Given the description of an element on the screen output the (x, y) to click on. 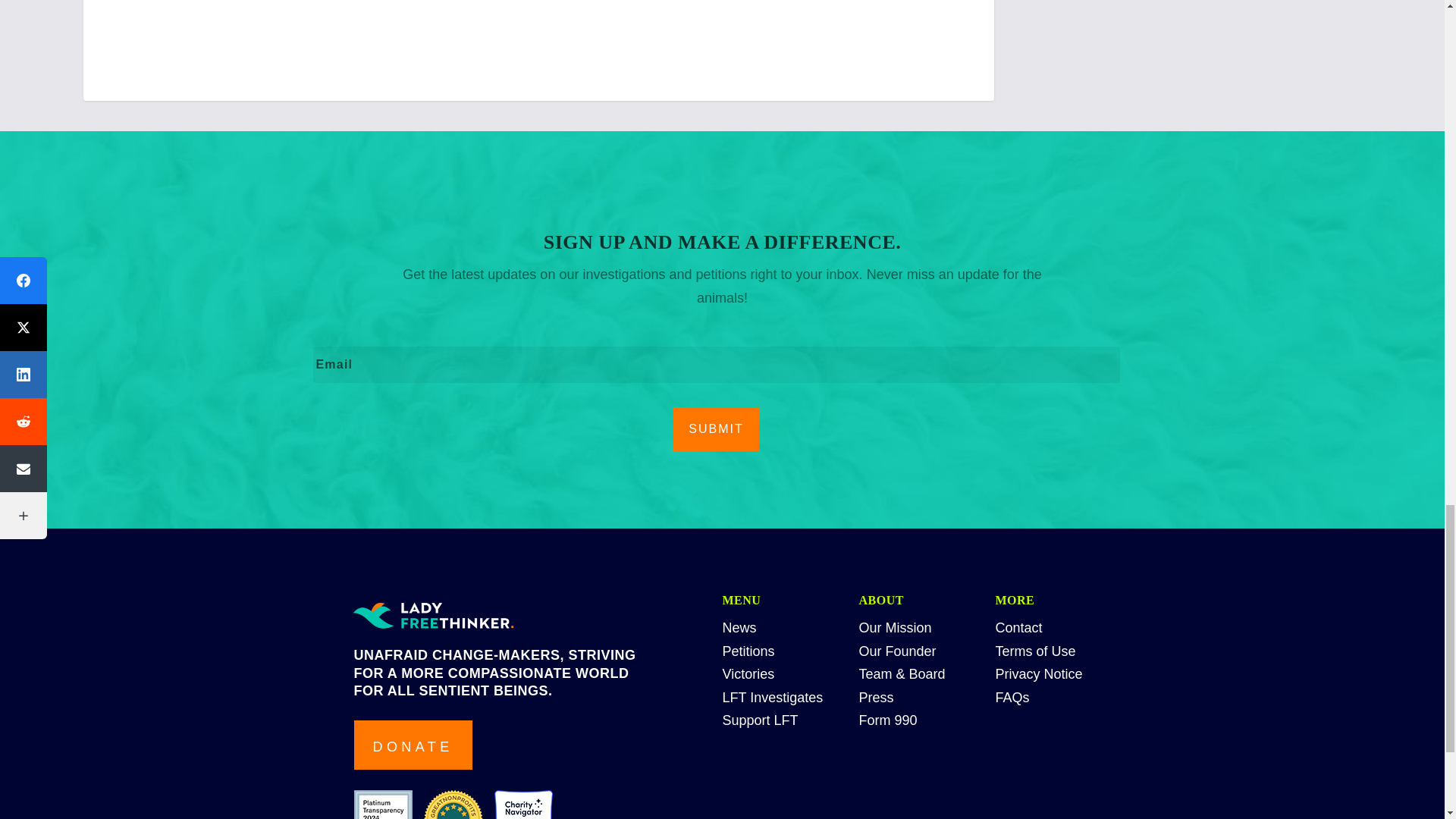
Submit (715, 429)
lady-freethinker-main-logo-colour-on-dark-bg 1 (432, 616)
lady-freethinker-certification-logo-2024-2 (452, 804)
